Given the description of an element on the screen output the (x, y) to click on. 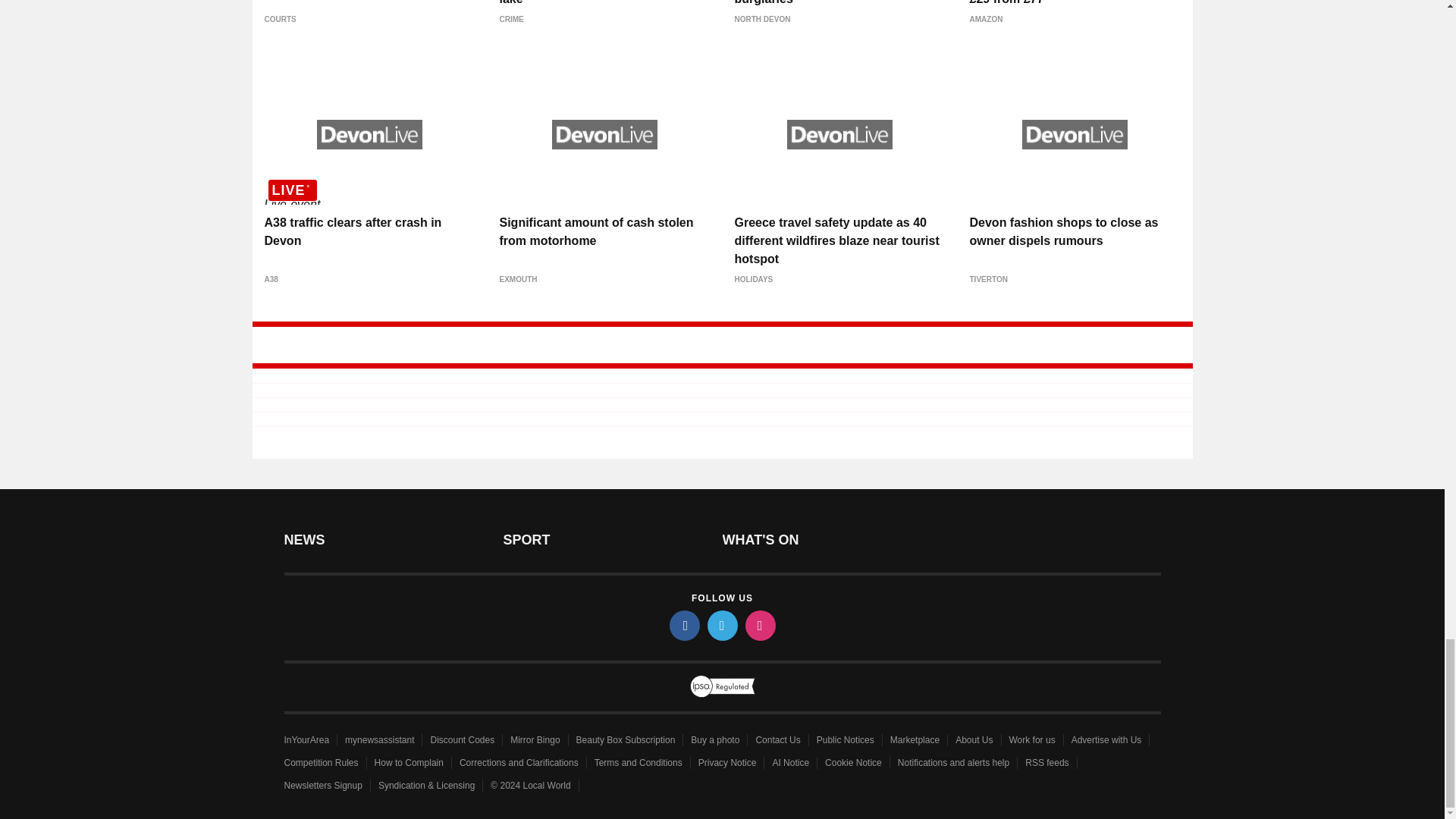
facebook (683, 625)
instagram (759, 625)
twitter (721, 625)
